Given the description of an element on the screen output the (x, y) to click on. 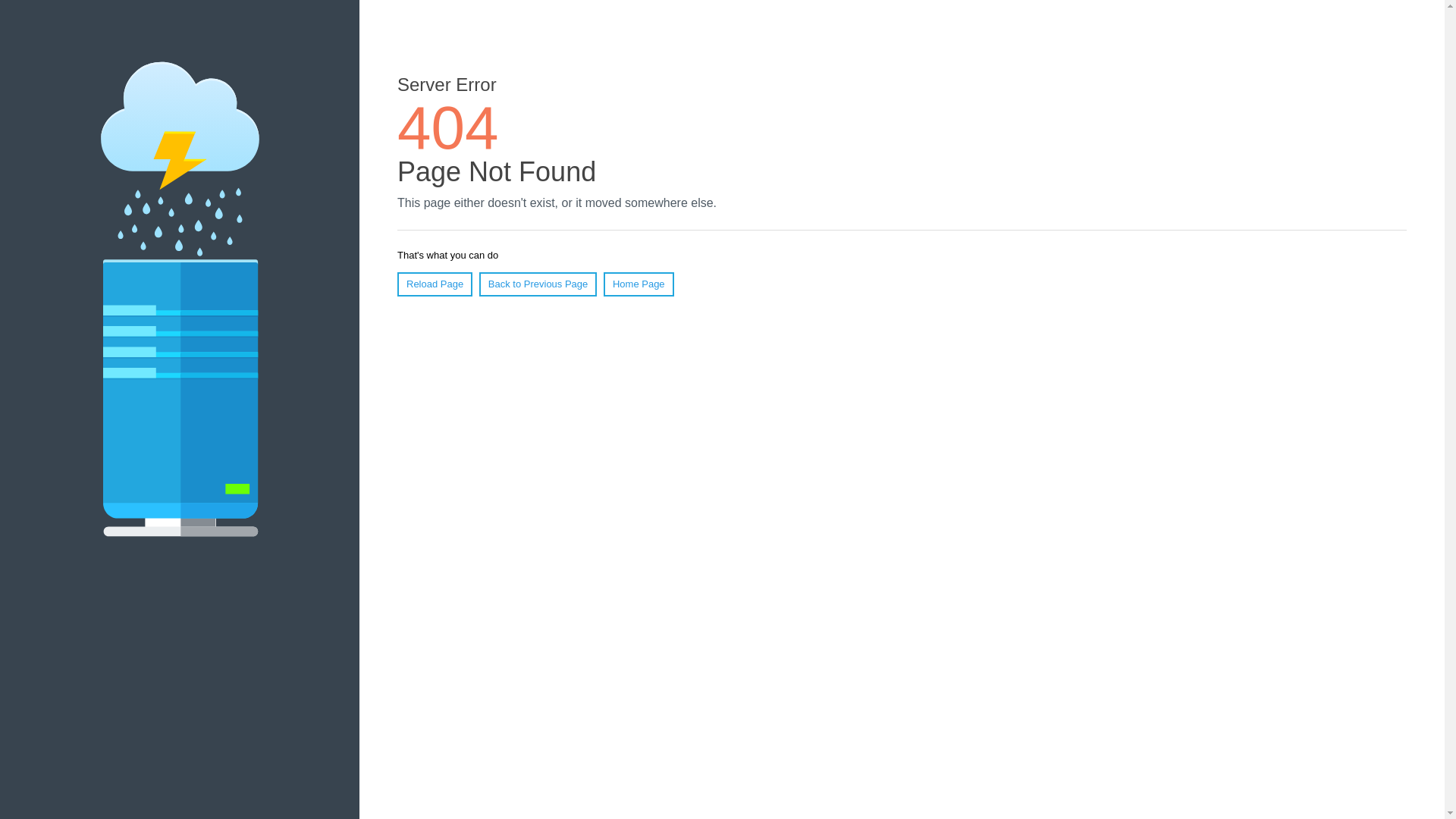
Home Page (639, 283)
Reload Page (434, 283)
Back to Previous Page (537, 283)
